Given the description of an element on the screen output the (x, y) to click on. 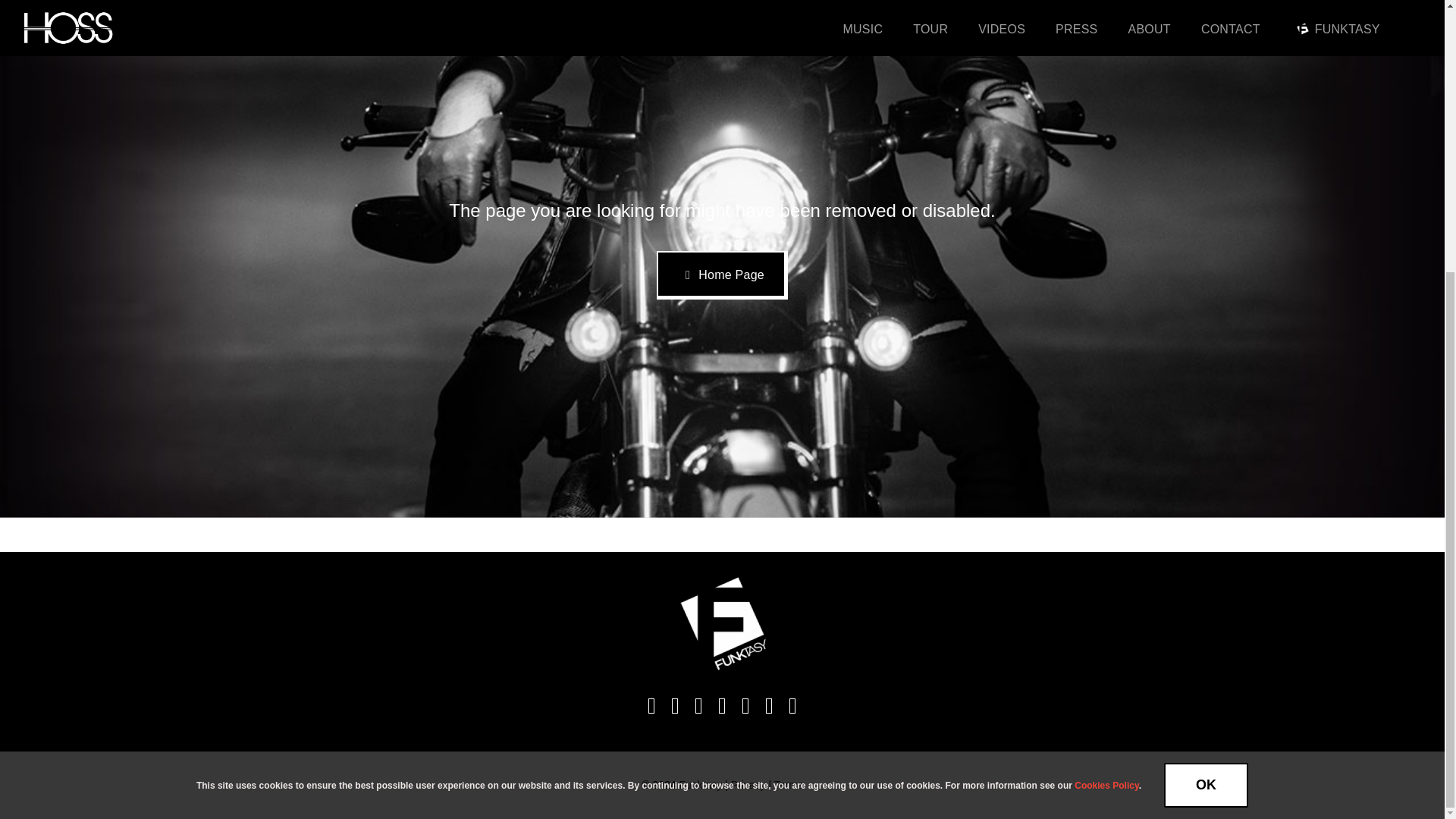
Terms (788, 784)
Cookies Policy (1106, 385)
Home Page (721, 274)
Privacy (747, 784)
Funktasy (699, 784)
